Given the description of an element on the screen output the (x, y) to click on. 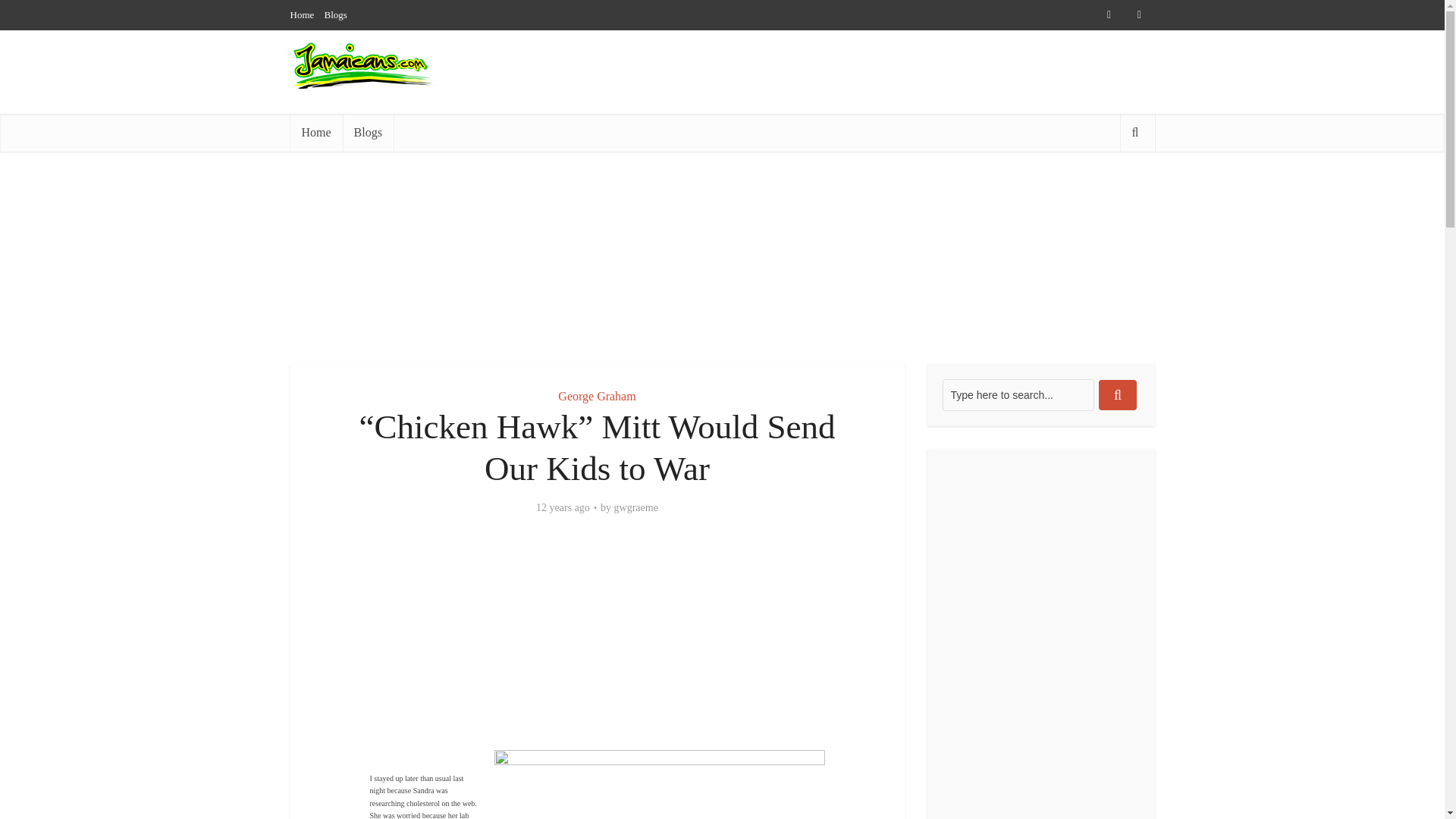
Type here to search... (1017, 395)
Type here to search... (1017, 395)
Blogs (367, 132)
gwgraeme (636, 508)
Blogs (335, 14)
George Graham (595, 395)
Home (301, 14)
Home (315, 132)
